Given the description of an element on the screen output the (x, y) to click on. 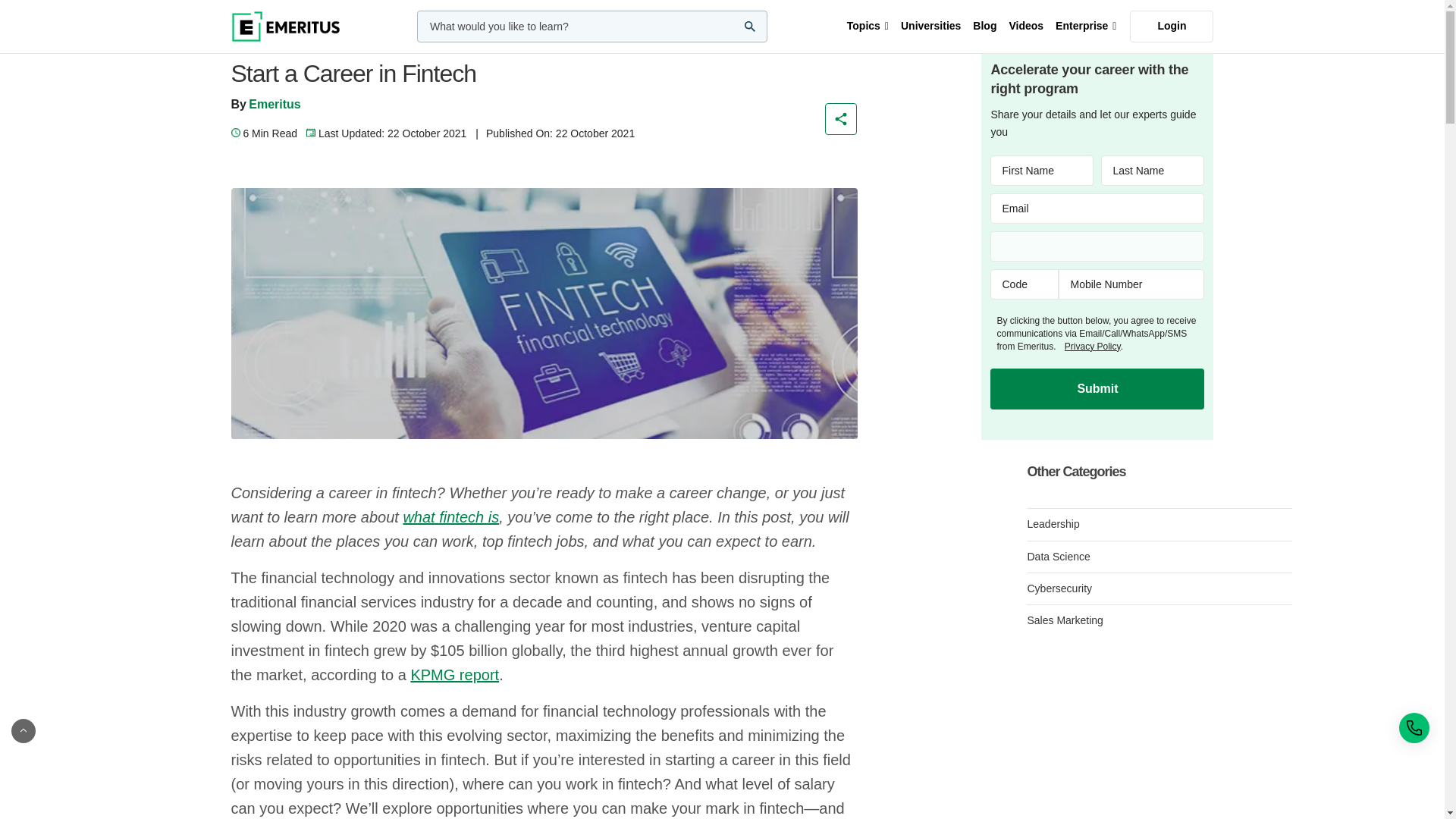
Enterprise (1085, 26)
Emeritus Online Courses (284, 26)
Blog (984, 26)
Videos (1026, 26)
Login (1170, 26)
Country (1097, 245)
Topics (868, 26)
Universities (930, 26)
Scroll To Top (721, 730)
Submit (1097, 388)
